Given the description of an element on the screen output the (x, y) to click on. 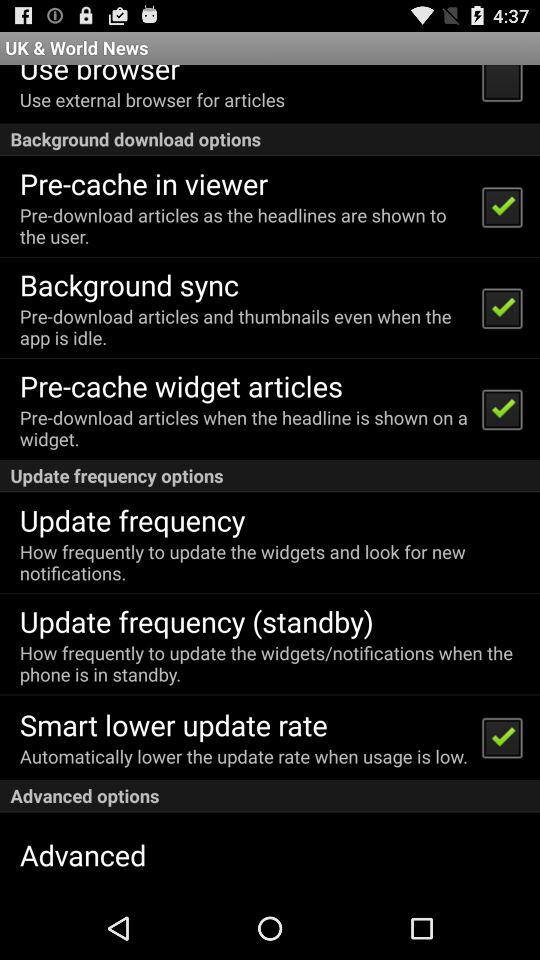
tap the icon above the pre cache in app (270, 138)
